Given the description of an element on the screen output the (x, y) to click on. 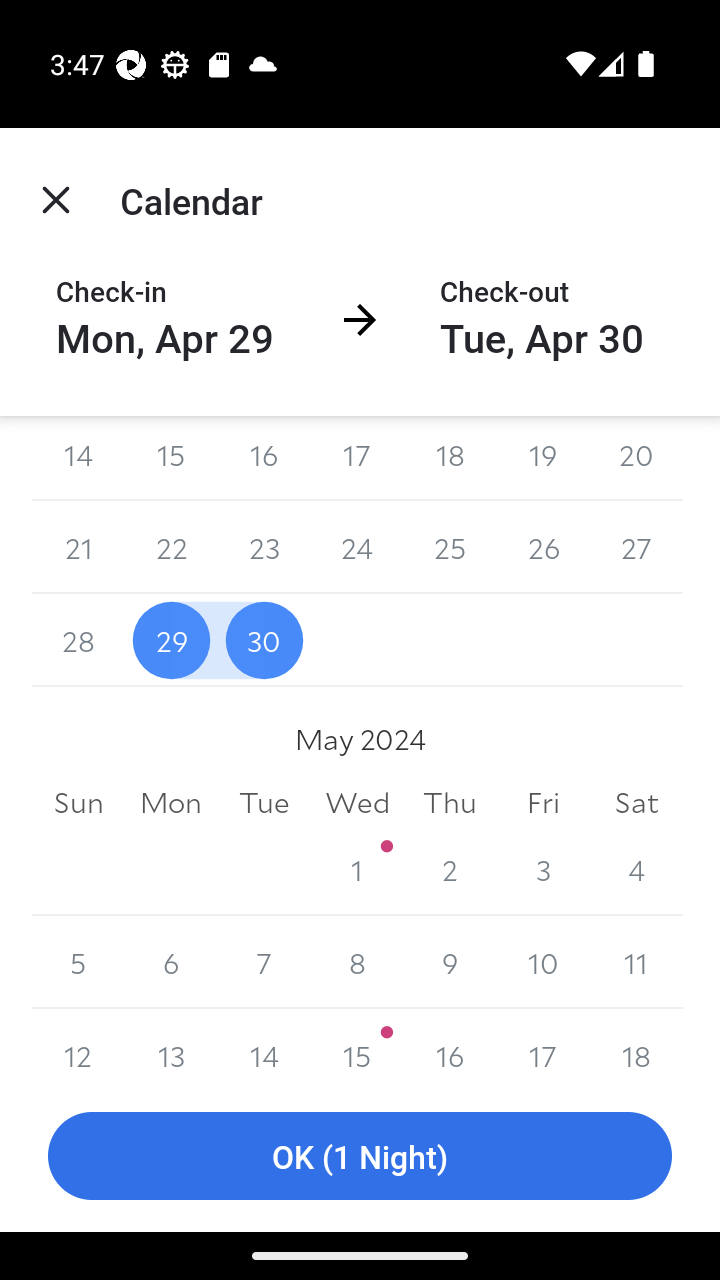
14 14 April 2024 (78, 458)
15 15 April 2024 (171, 458)
16 16 April 2024 (264, 458)
17 17 April 2024 (357, 458)
18 18 April 2024 (449, 458)
19 19 April 2024 (542, 458)
20 20 April 2024 (636, 458)
21 21 April 2024 (78, 546)
22 22 April 2024 (171, 546)
23 23 April 2024 (264, 546)
24 24 April 2024 (357, 546)
25 25 April 2024 (449, 546)
26 26 April 2024 (542, 546)
27 27 April 2024 (636, 546)
28 28 April 2024 (78, 640)
29 29 April 2024 (171, 640)
30 30 April 2024 (264, 640)
Sun (78, 802)
Mon (171, 802)
Tue (264, 802)
Wed (357, 802)
Thu (449, 802)
Fri (542, 802)
Sat (636, 802)
1 1 May 2024 (357, 869)
2 2 May 2024 (449, 869)
3 3 May 2024 (542, 869)
4 4 May 2024 (636, 869)
5 5 May 2024 (78, 962)
6 6 May 2024 (171, 962)
7 7 May 2024 (264, 962)
8 8 May 2024 (357, 962)
9 9 May 2024 (449, 962)
10 10 May 2024 (542, 962)
11 11 May 2024 (636, 962)
12 12 May 2024 (78, 1044)
13 13 May 2024 (171, 1044)
14 14 May 2024 (264, 1044)
15 15 May 2024 (357, 1044)
16 16 May 2024 (449, 1044)
17 17 May 2024 (542, 1044)
18 18 May 2024 (636, 1044)
OK (1 Night) (359, 1156)
